Given the description of an element on the screen output the (x, y) to click on. 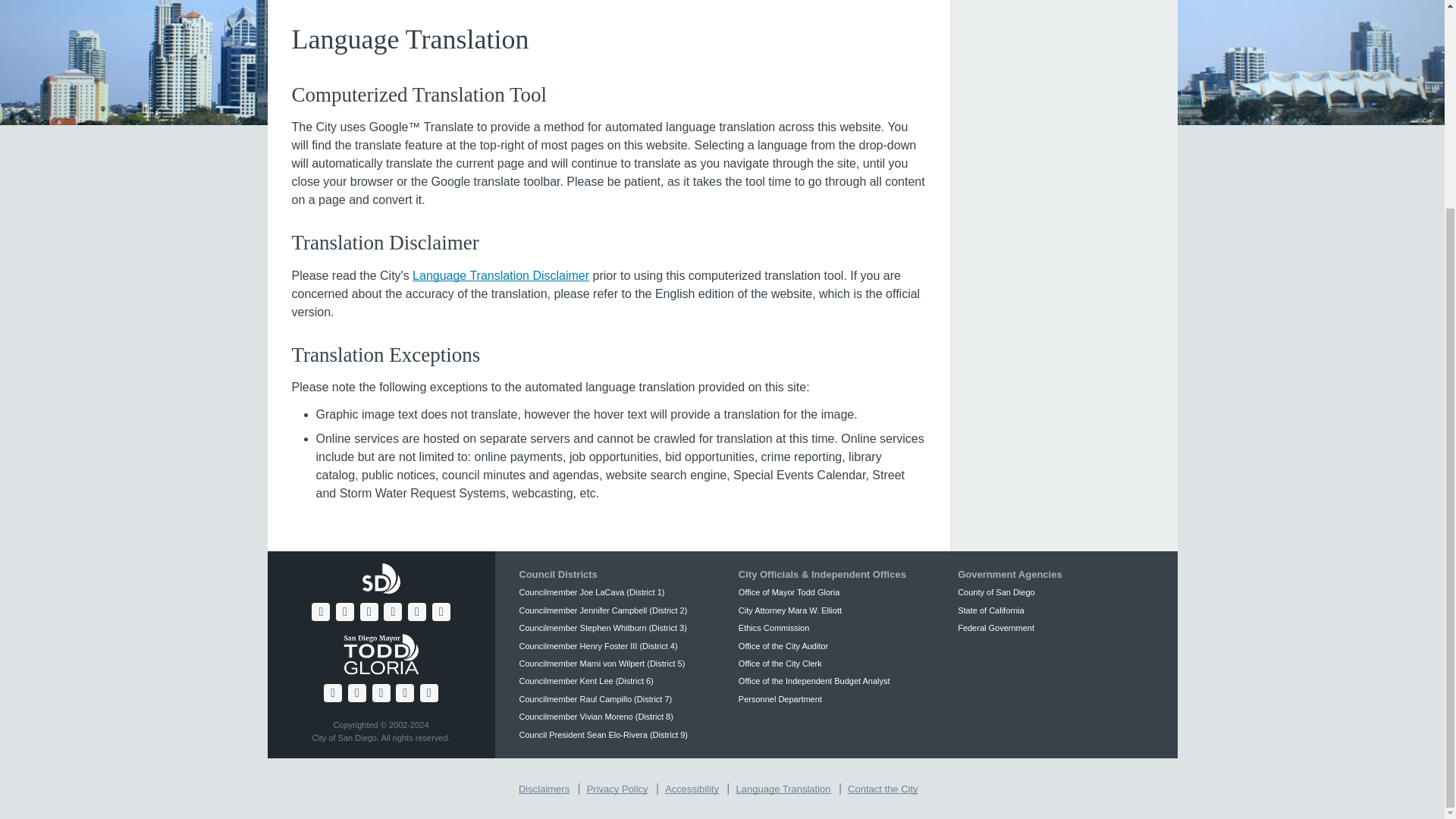
LinkedIn (440, 611)
Facebook (320, 611)
Nextdoor (416, 611)
Twitter (344, 611)
YouTube (368, 611)
Instagram (392, 611)
